Given the description of an element on the screen output the (x, y) to click on. 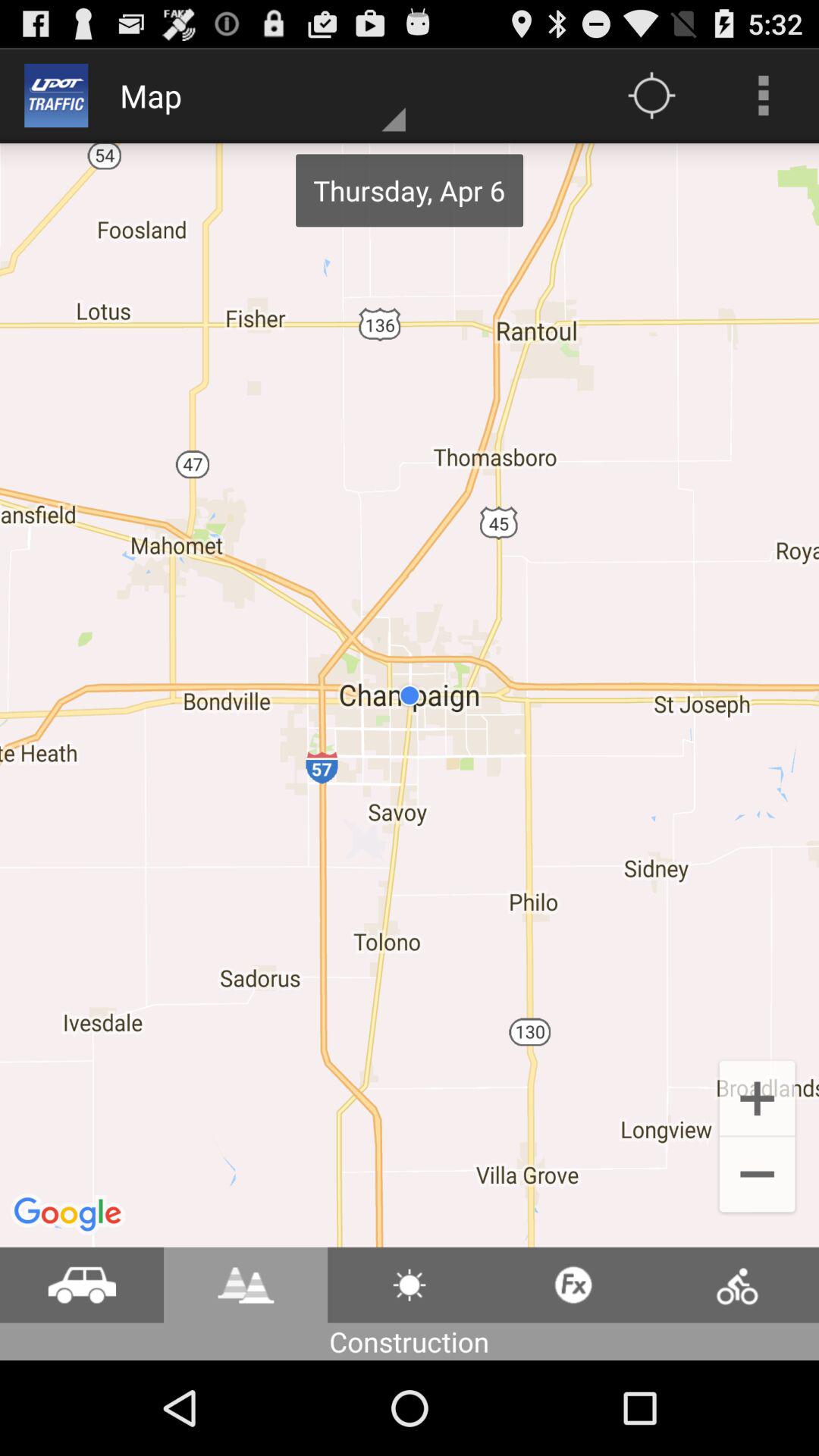
opens up biking options (737, 1284)
